Given the description of an element on the screen output the (x, y) to click on. 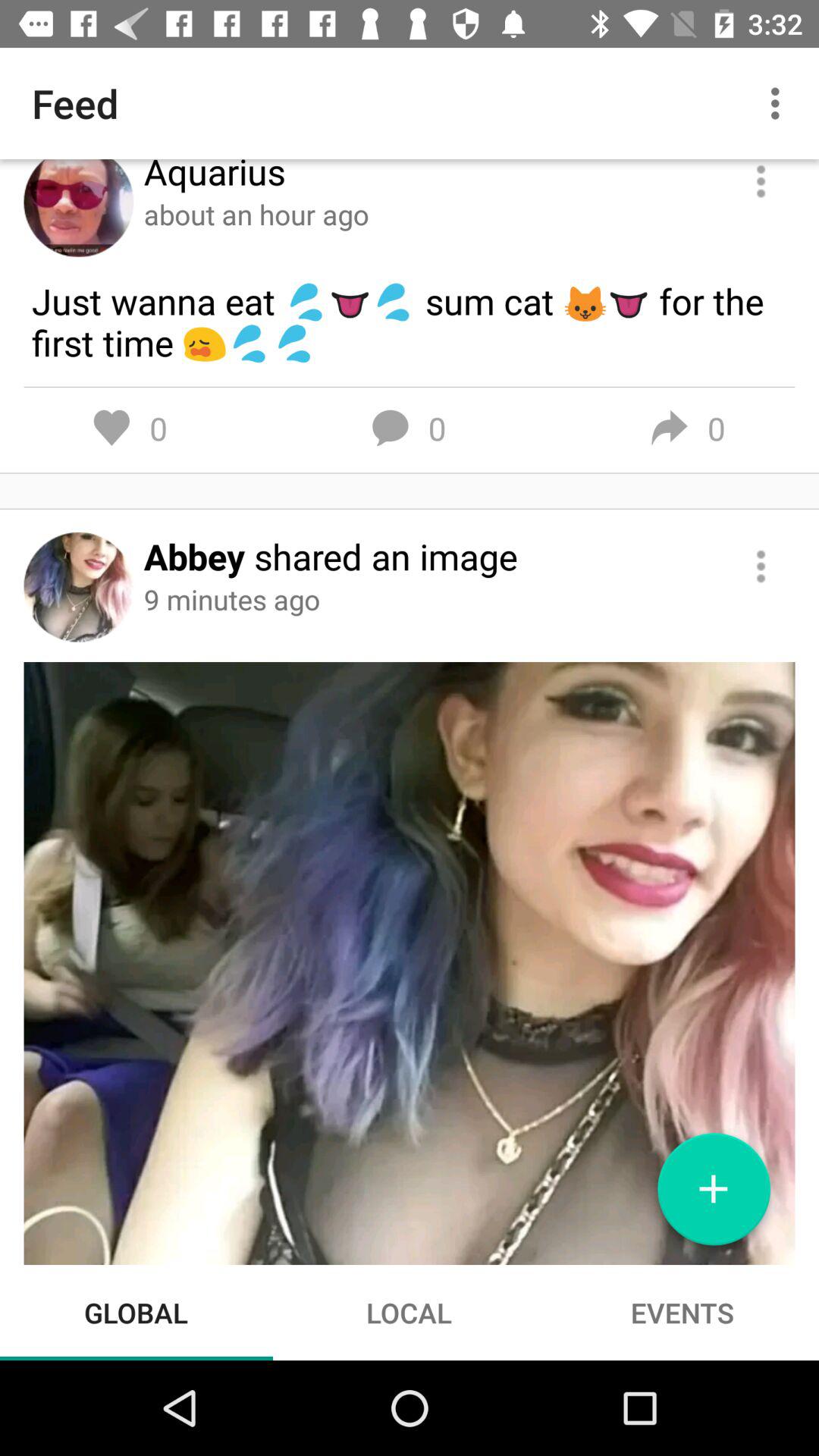
go to profile picture (78, 208)
